Given the description of an element on the screen output the (x, y) to click on. 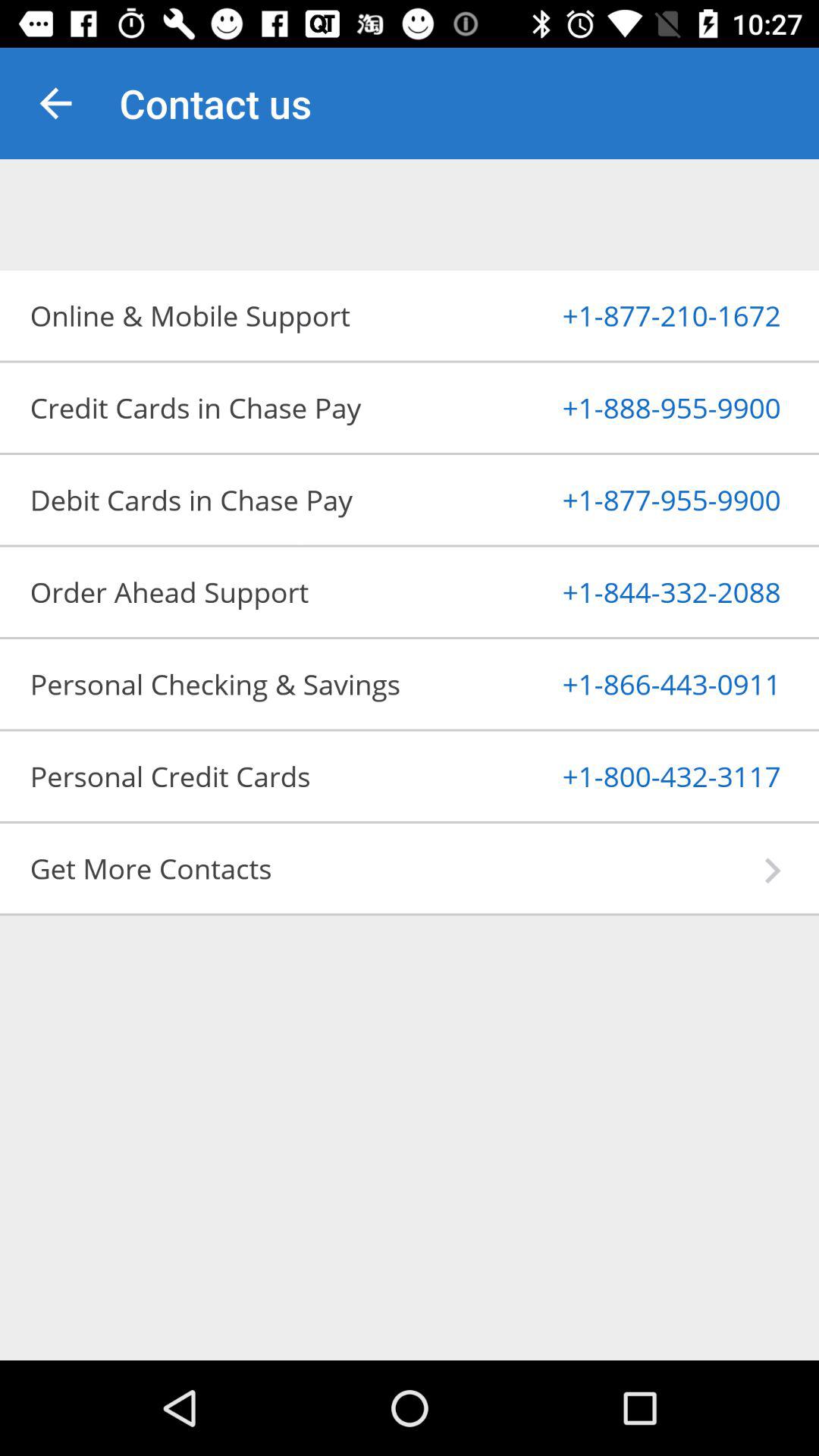
select the app next to personal credit cards app (634, 776)
